Given the description of an element on the screen output the (x, y) to click on. 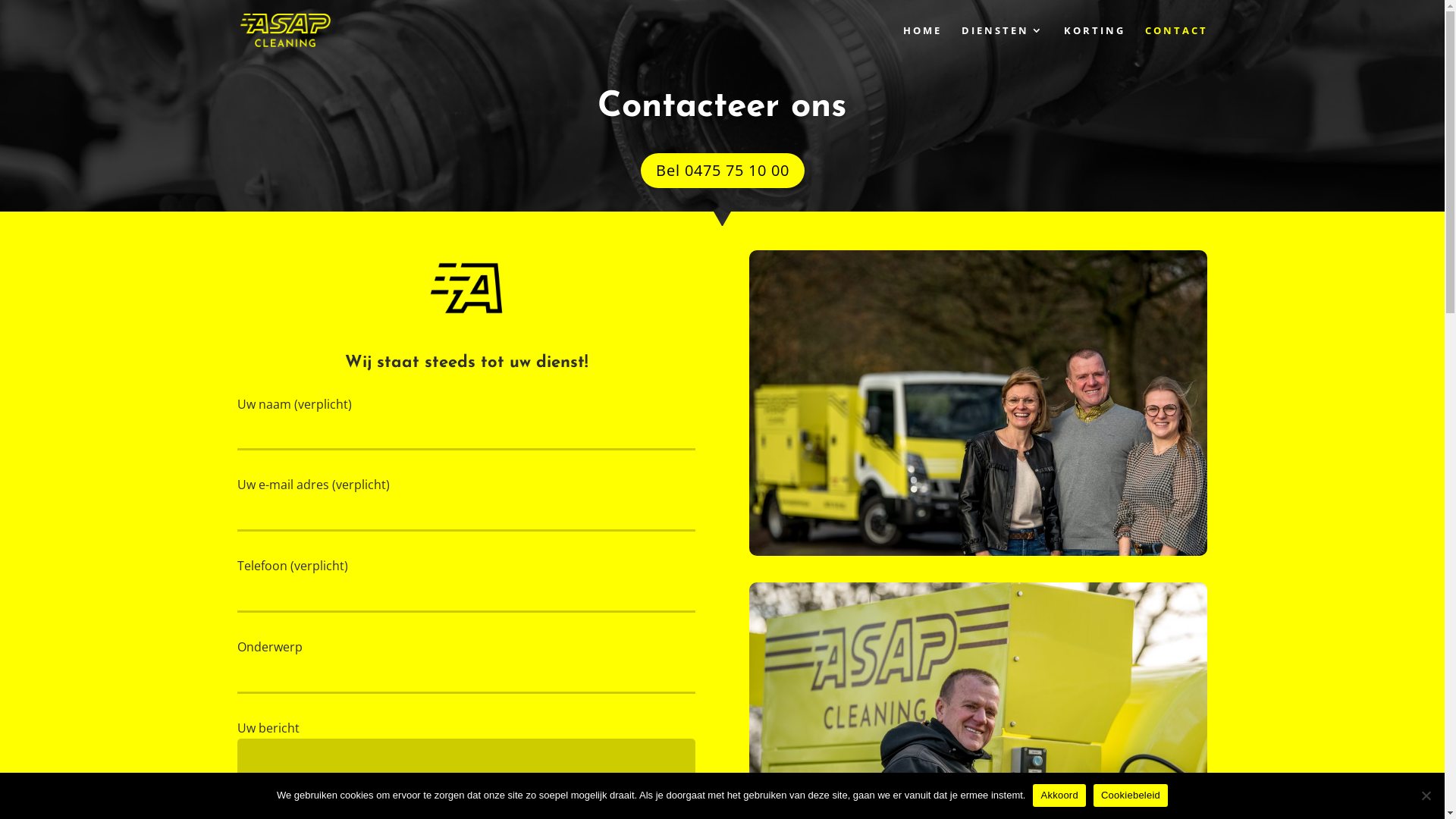
Cookiebeleid Element type: text (1130, 795)
HOME Element type: text (921, 42)
Akkoord Element type: text (1058, 795)
DIENSTEN Element type: text (1002, 42)
ASAP cleaning Element type: hover (466, 288)
KORTING Element type: text (1093, 42)
DSC_1960 Element type: hover (978, 402)
Bel 0475 75 10 00 Element type: text (721, 170)
Nee Element type: hover (1425, 795)
Contacteer ons Element type: text (722, 107)
CONTACT Element type: text (1176, 42)
